Given the description of an element on the screen output the (x, y) to click on. 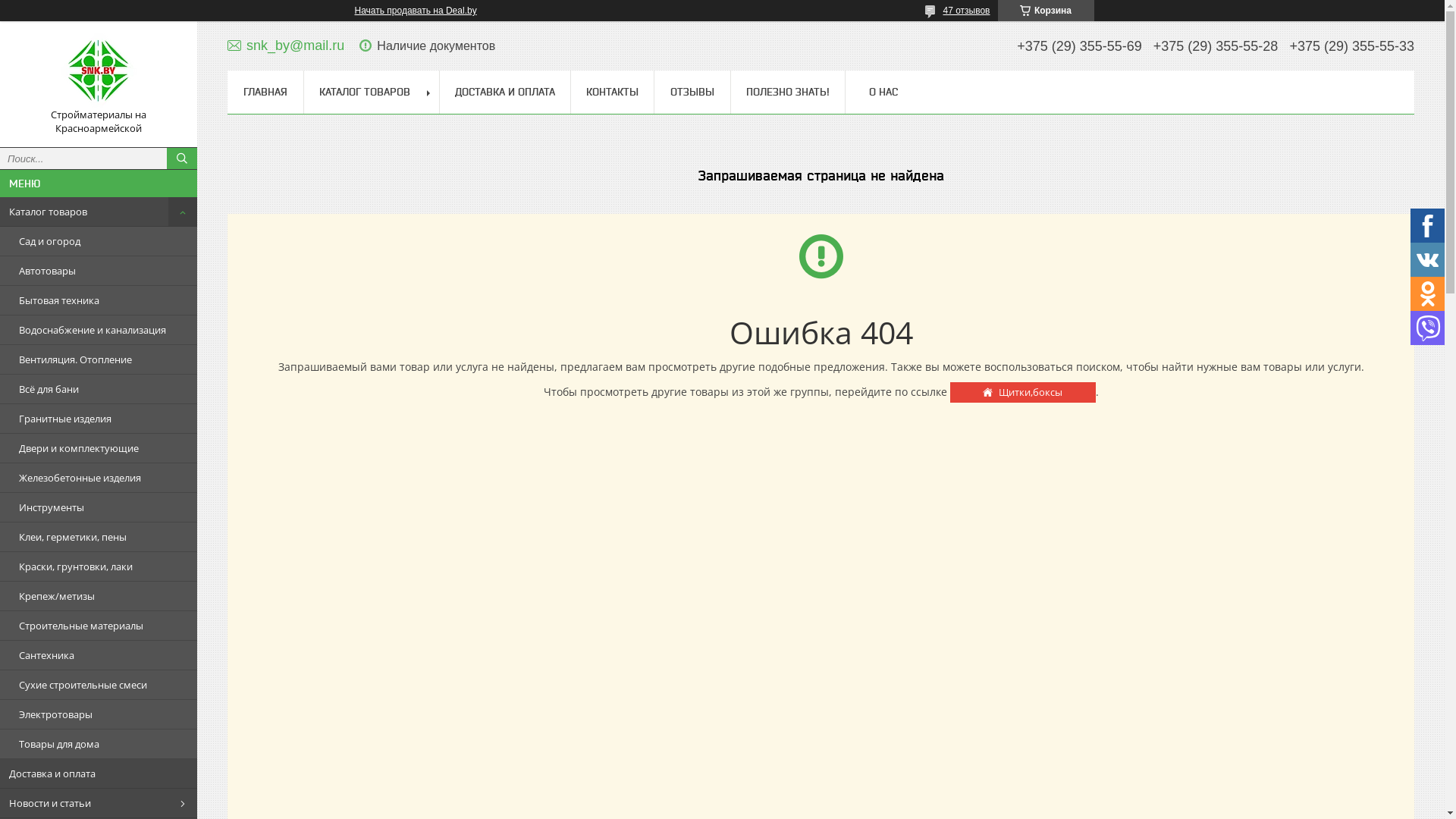
snk_by@mail.ru Element type: text (285, 45)
